Given the description of an element on the screen output the (x, y) to click on. 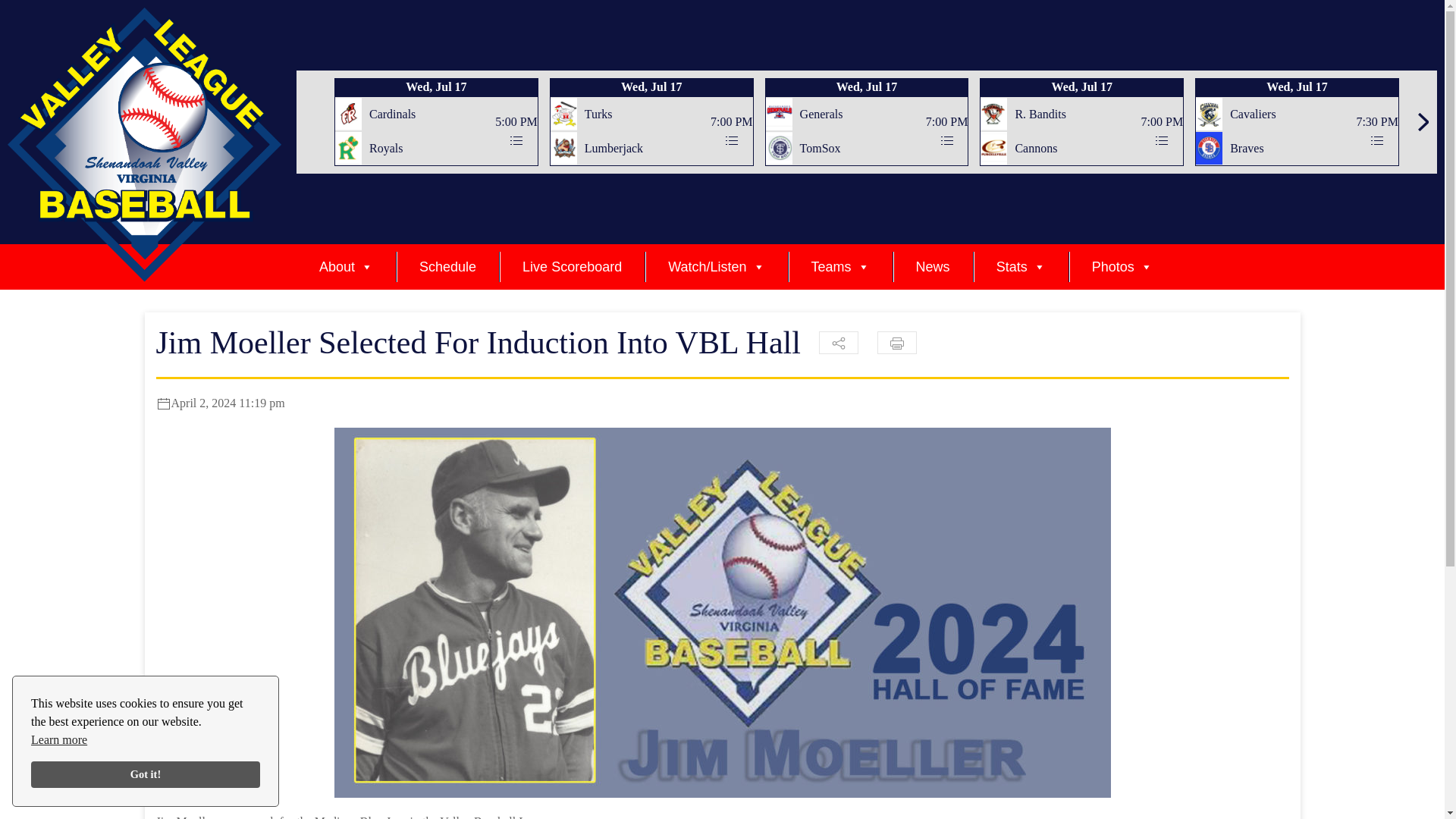
Learn more (58, 740)
Live Stats (1161, 140)
Live Scoreboard (572, 266)
Live Stats (1377, 140)
Live Stats (947, 140)
Got it! (145, 774)
Schedule (447, 266)
Live Stats (516, 140)
About (346, 266)
Live Stats (731, 140)
